Given the description of an element on the screen output the (x, y) to click on. 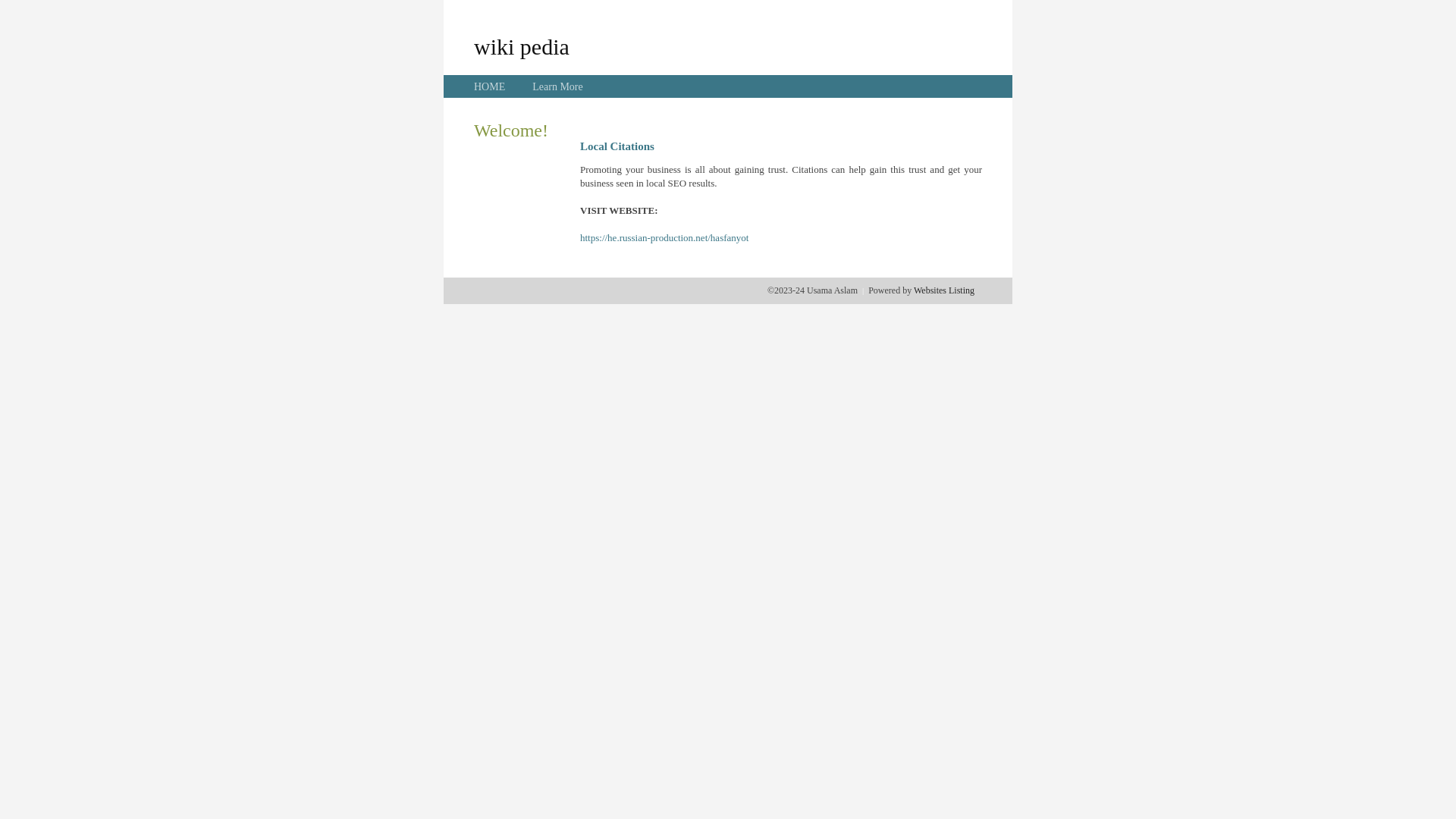
HOME Element type: text (489, 86)
Websites Listing Element type: text (943, 290)
Learn More Element type: text (557, 86)
wiki pedia Element type: text (521, 46)
https://he.russian-production.net/hasfanyot Element type: text (664, 237)
